Given the description of an element on the screen output the (x, y) to click on. 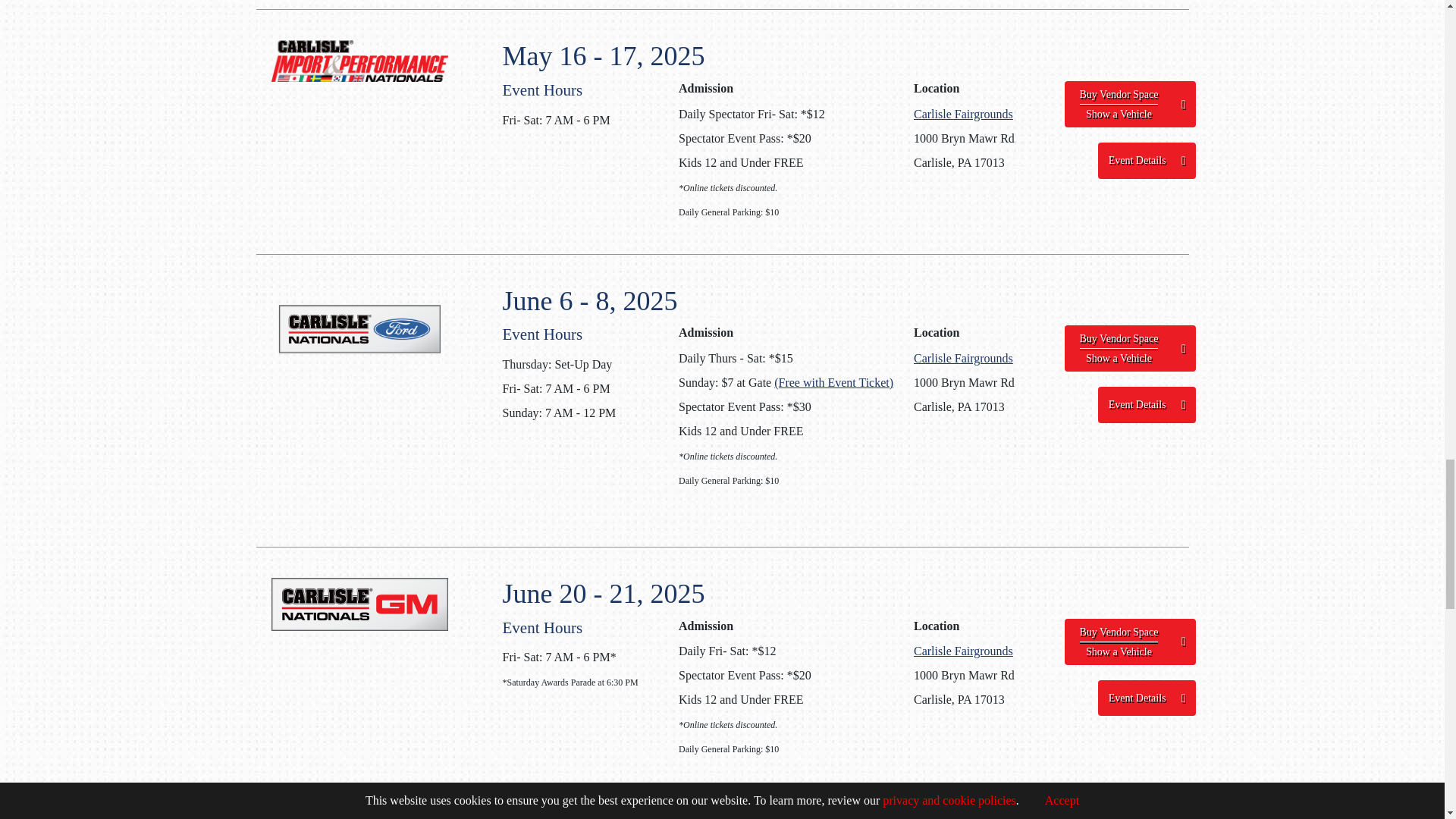
Carlisle GM Nationals (359, 604)
Carlisle Ford Nationals (359, 329)
